Given the description of an element on the screen output the (x, y) to click on. 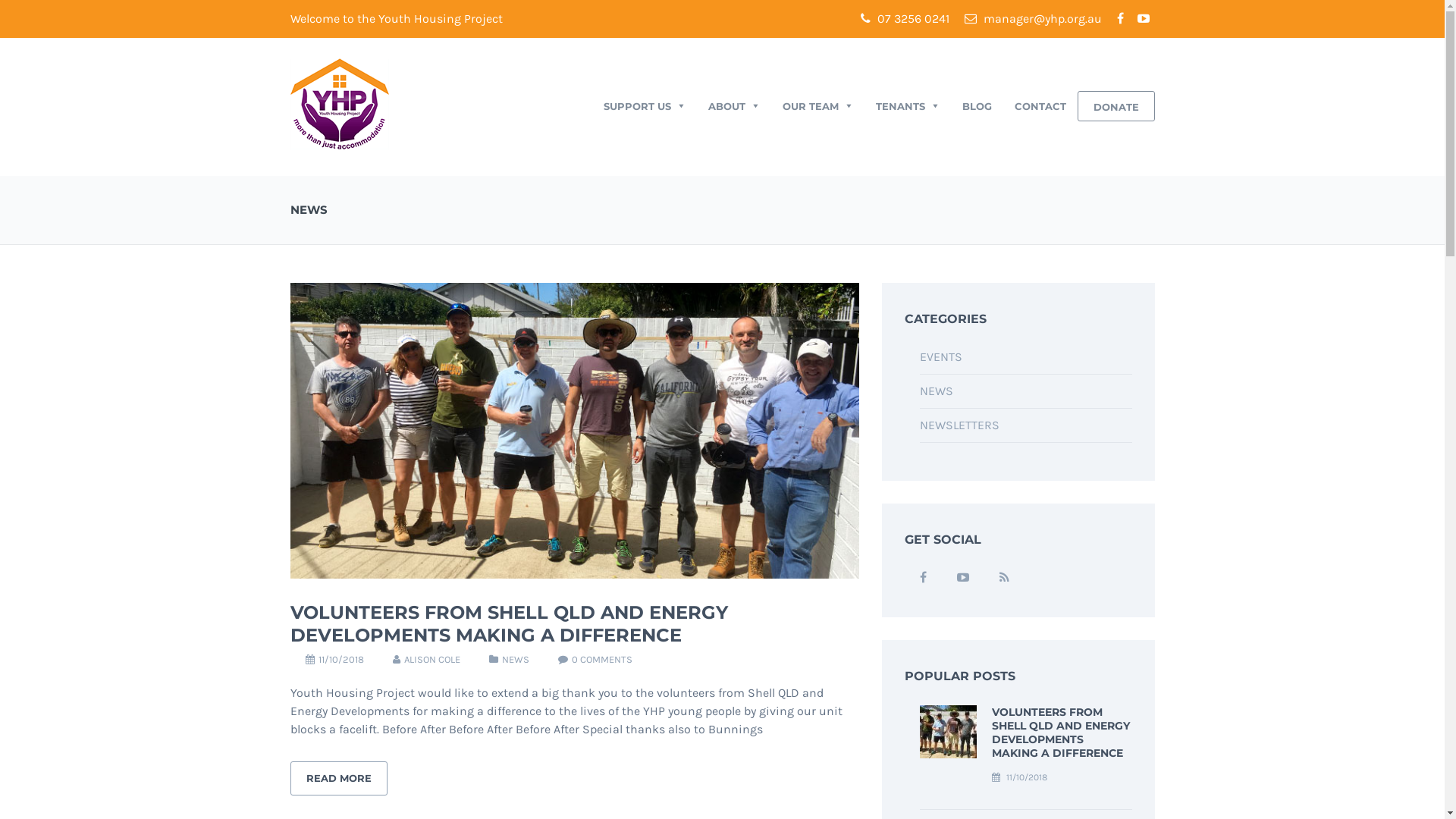
NEWS Element type: text (515, 659)
EVENTS Element type: text (940, 356)
0 COMMENTS Element type: text (601, 659)
BLOG Element type: text (976, 106)
NEWS Element type: text (935, 390)
TENANTS Element type: text (907, 106)
NEWSLETTERS Element type: text (958, 424)
OUR TEAM Element type: text (816, 106)
https://yhp.org.au/?feed=rss2 Element type: hover (1004, 577)
https://www.youtube.com/channel/UCi0RhjGvS71xELtdM5xw9UQ Element type: hover (963, 577)
ABOUT Element type: text (733, 106)
DONATE Element type: text (1115, 106)
youtube-play Element type: hover (1142, 18)
manager@yhp.org.au Element type: text (1033, 18)
07 3256 0241 Element type: text (904, 18)
facebook Element type: hover (1119, 18)
READ MORE Element type: text (337, 778)
Youth Housing Project Element type: hover (338, 102)
SUPPORT US Element type: text (643, 106)
CONTACT Element type: text (1039, 106)
https://www.facebook.com/youthhousingproject/ Element type: hover (922, 577)
